Given the description of an element on the screen output the (x, y) to click on. 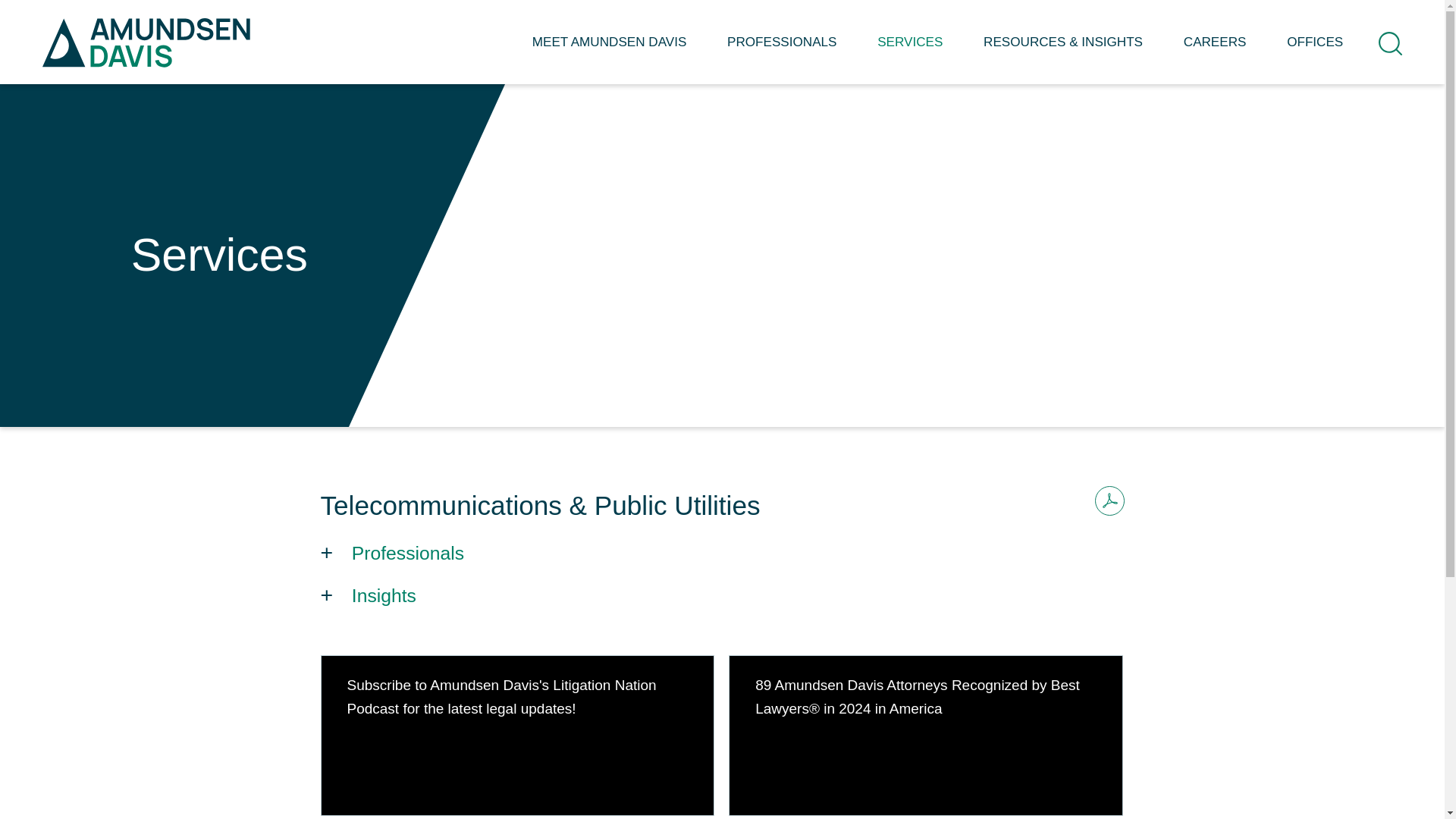
Main Content (667, 19)
MEET AMUNDSEN DAVIS (609, 54)
Main Menu (674, 19)
Print PDF (1109, 500)
PROFESSIONALS (781, 54)
SERVICES (909, 54)
Search (1390, 43)
Menu (674, 19)
OFFICES (1314, 54)
CAREERS (1214, 54)
